Given the description of an element on the screen output the (x, y) to click on. 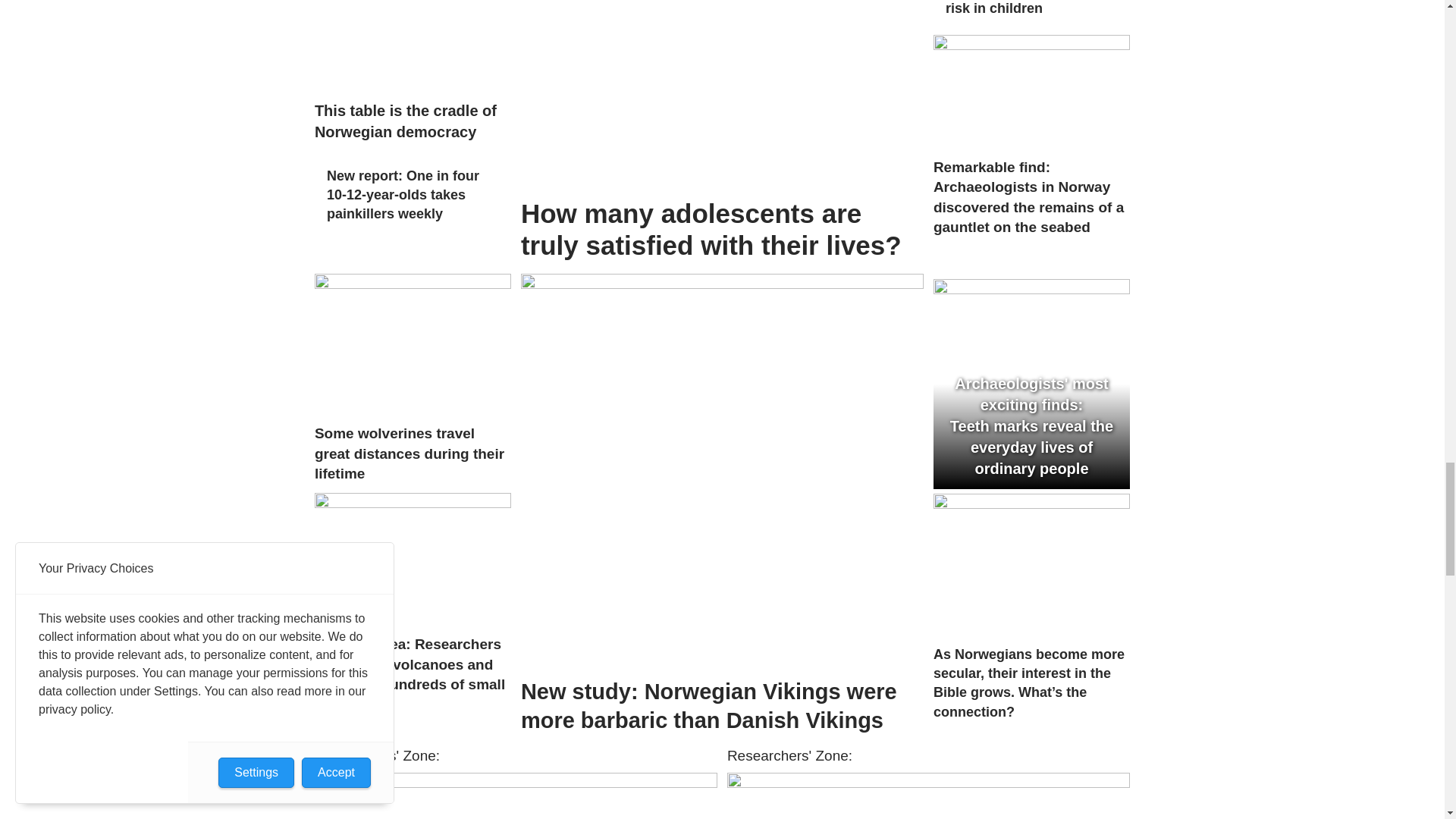
This table is the cradle of Norwegian democracy (412, 46)
Humans have always had difficulty attending (515, 796)
Some wolverines travel great distances during their lifetime (412, 344)
How many adolescents are truly satisfied with their lives? (722, 94)
